Given the description of an element on the screen output the (x, y) to click on. 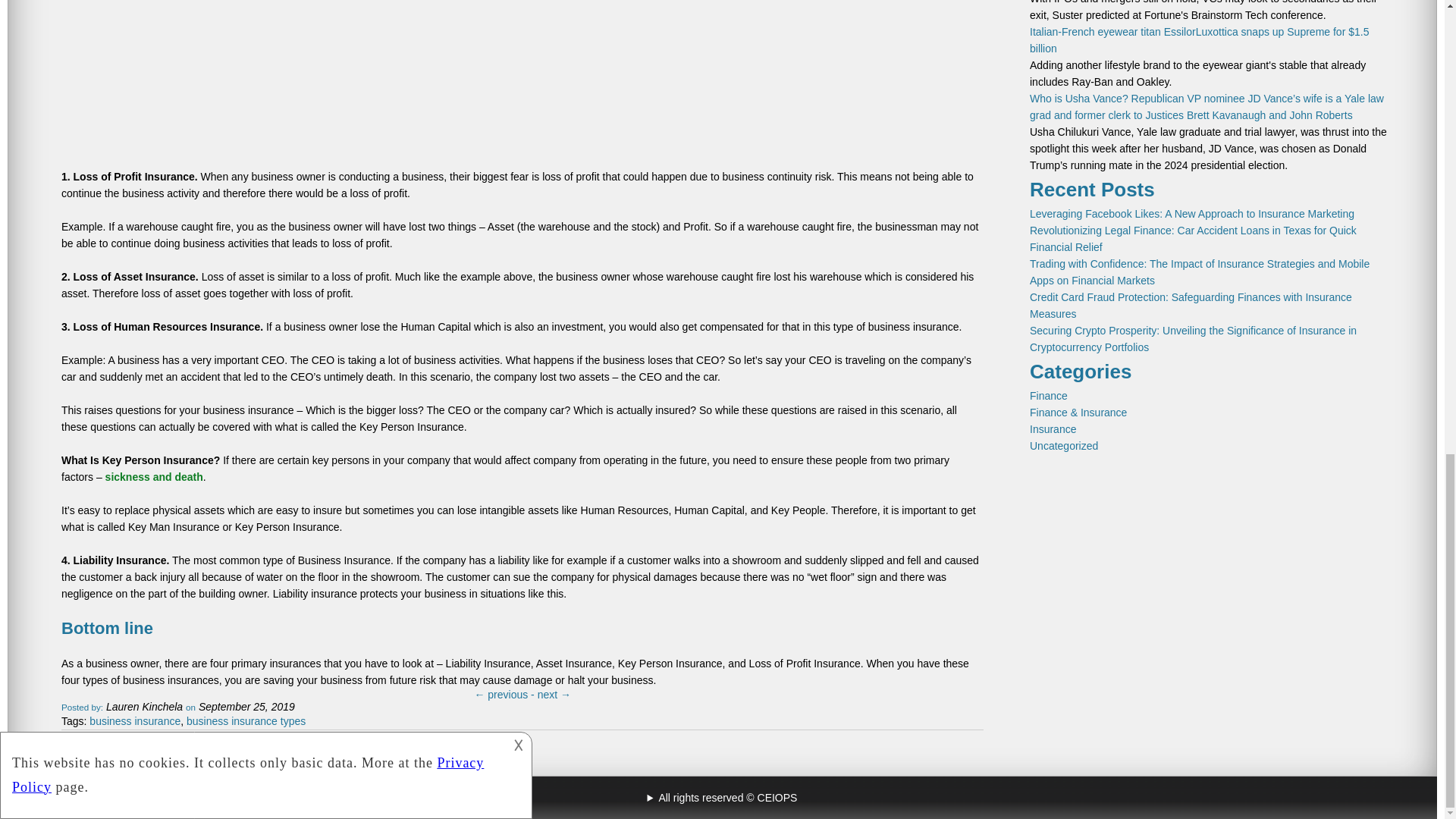
business insurance types (245, 720)
business insurance (134, 720)
sickness and death (153, 476)
